Given the description of an element on the screen output the (x, y) to click on. 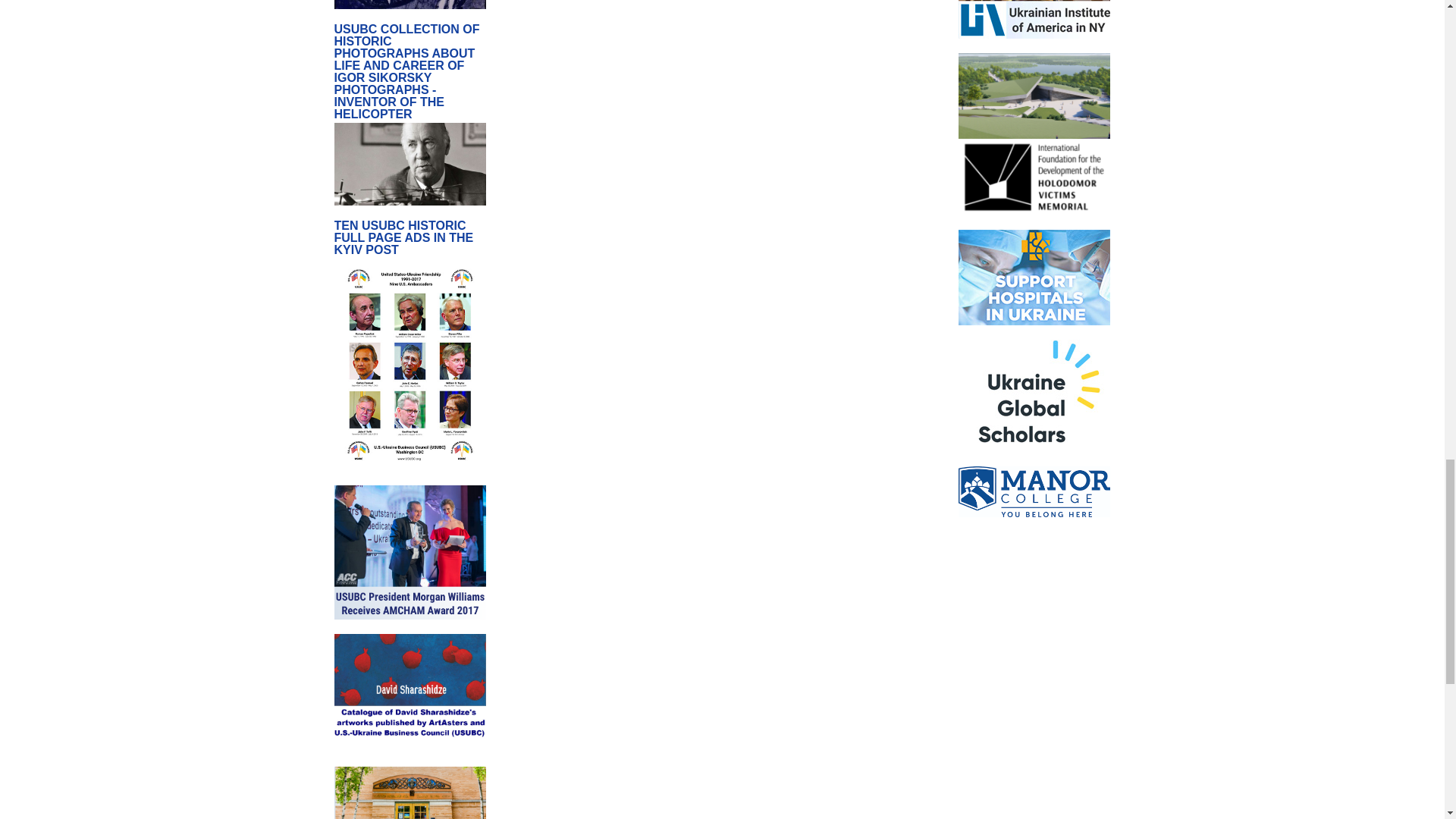
Support Hospitals in Ukraine (1033, 386)
Ukrainian Institute of America in New York (1033, 122)
Ukraine Global Scholars (1033, 521)
Morgan Williams received ACC Presidential Award (408, 626)
David Sharashidze Artwork Catalogue (408, 785)
